Given the description of an element on the screen output the (x, y) to click on. 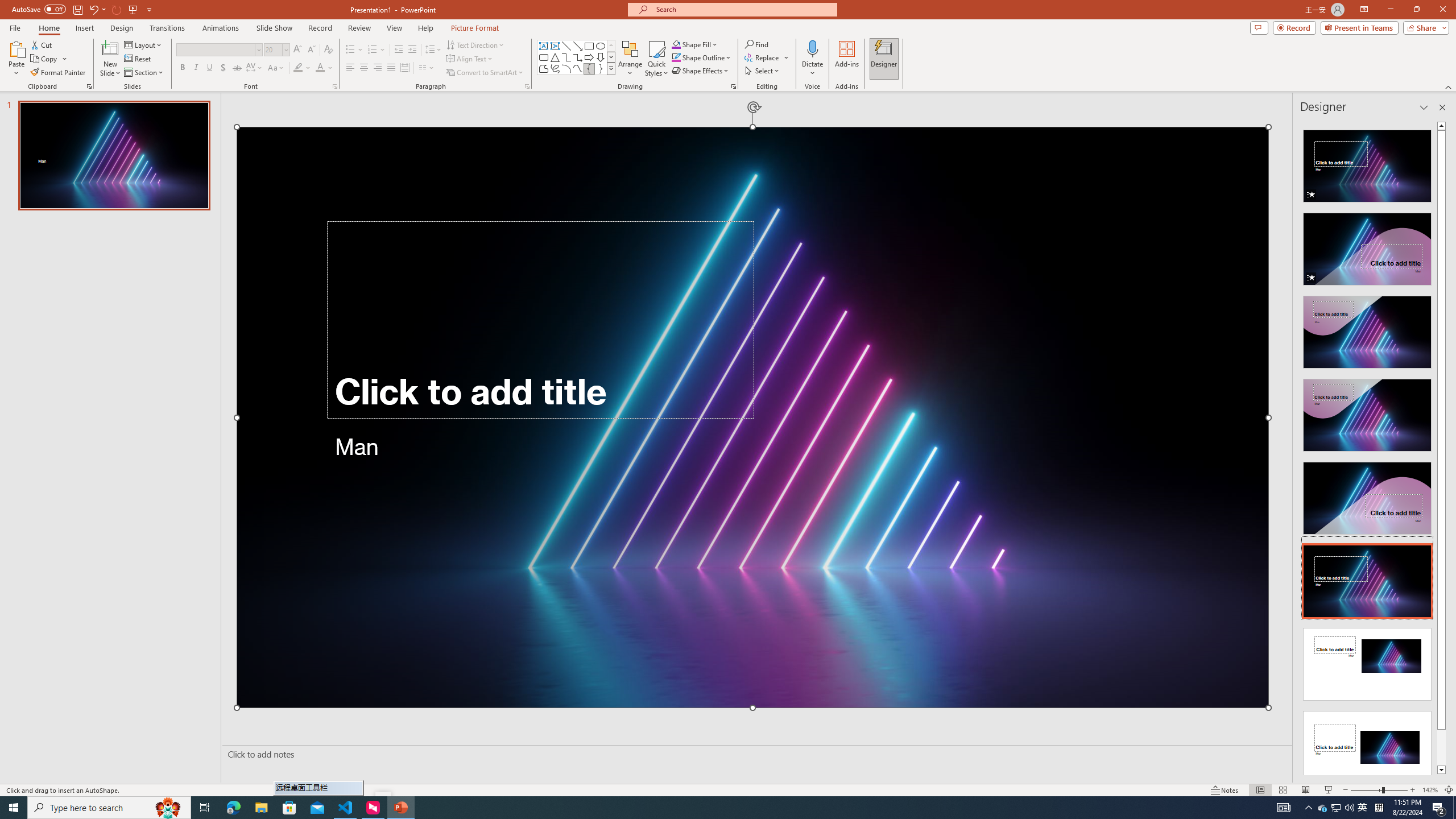
Zoom 142% (1430, 790)
